Given the description of an element on the screen output the (x, y) to click on. 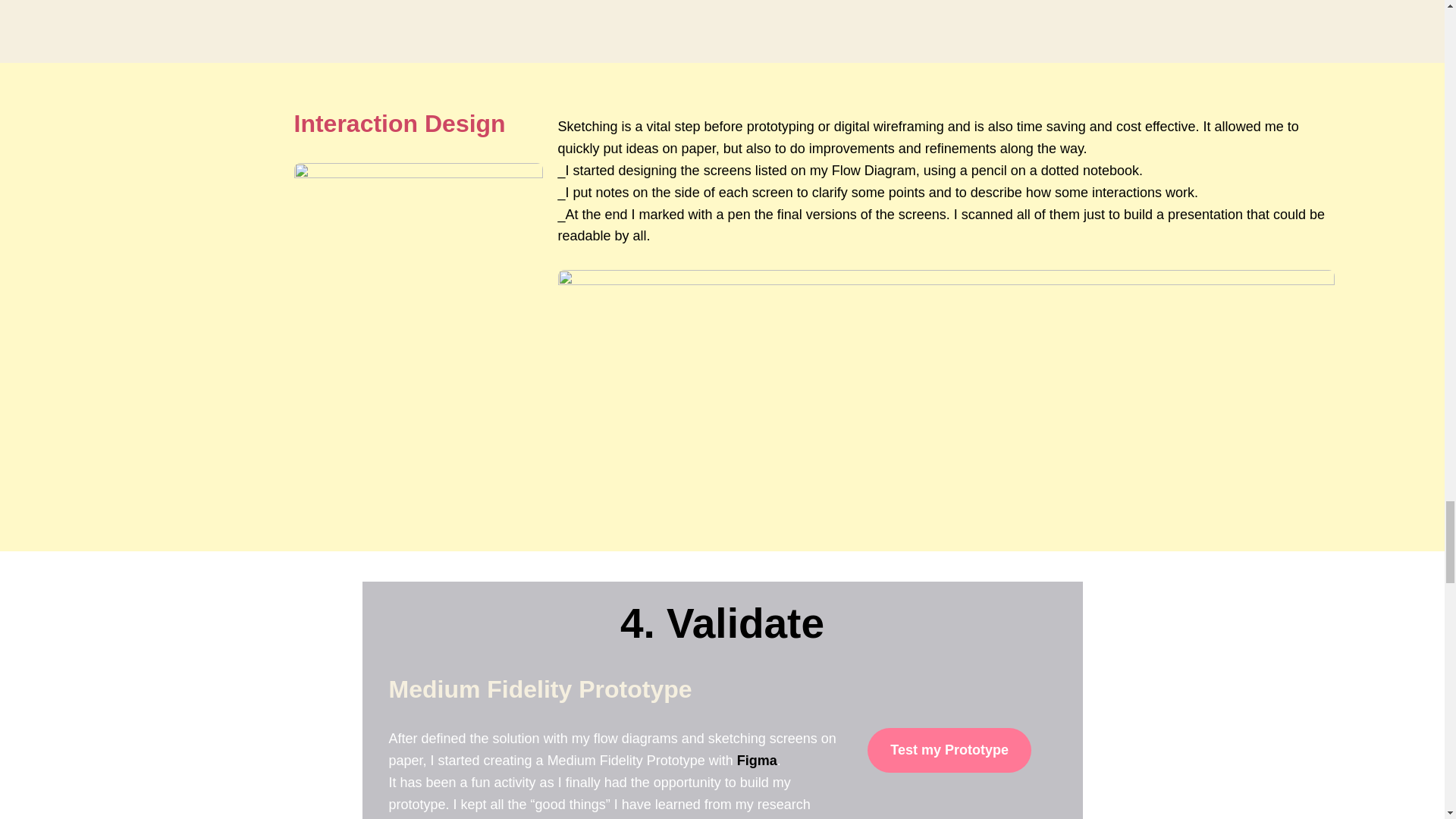
Test my Prototype (948, 750)
